Given the description of an element on the screen output the (x, y) to click on. 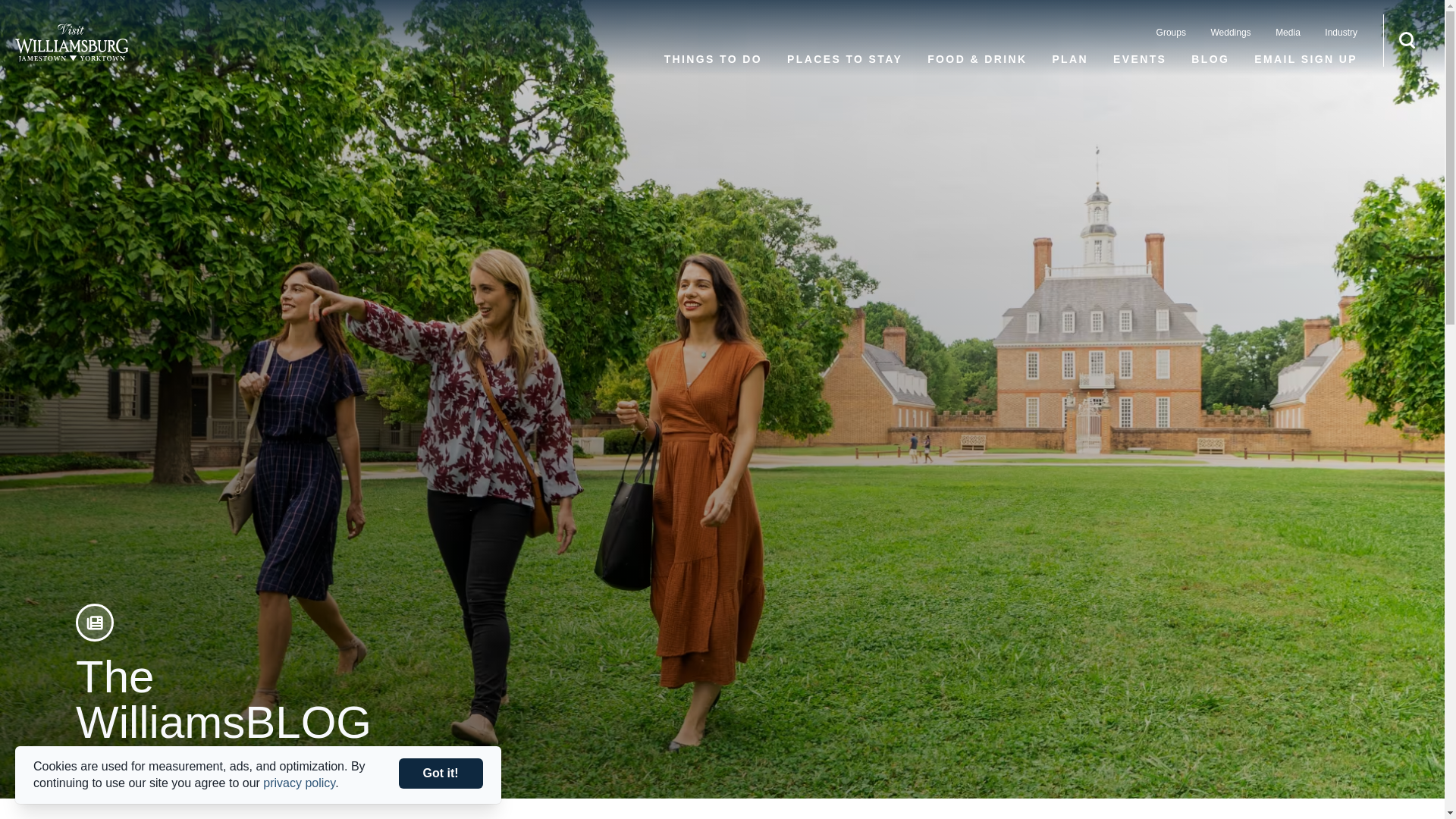
Media (1287, 32)
PLAN (1069, 59)
PLACES TO STAY (844, 59)
BLOG (1209, 59)
EMAIL SIGN UP (1304, 59)
THINGS TO DO (712, 59)
Groups (1171, 32)
EVENTS (1139, 59)
Industry (1340, 32)
Weddings (1229, 32)
